Given the description of an element on the screen output the (x, y) to click on. 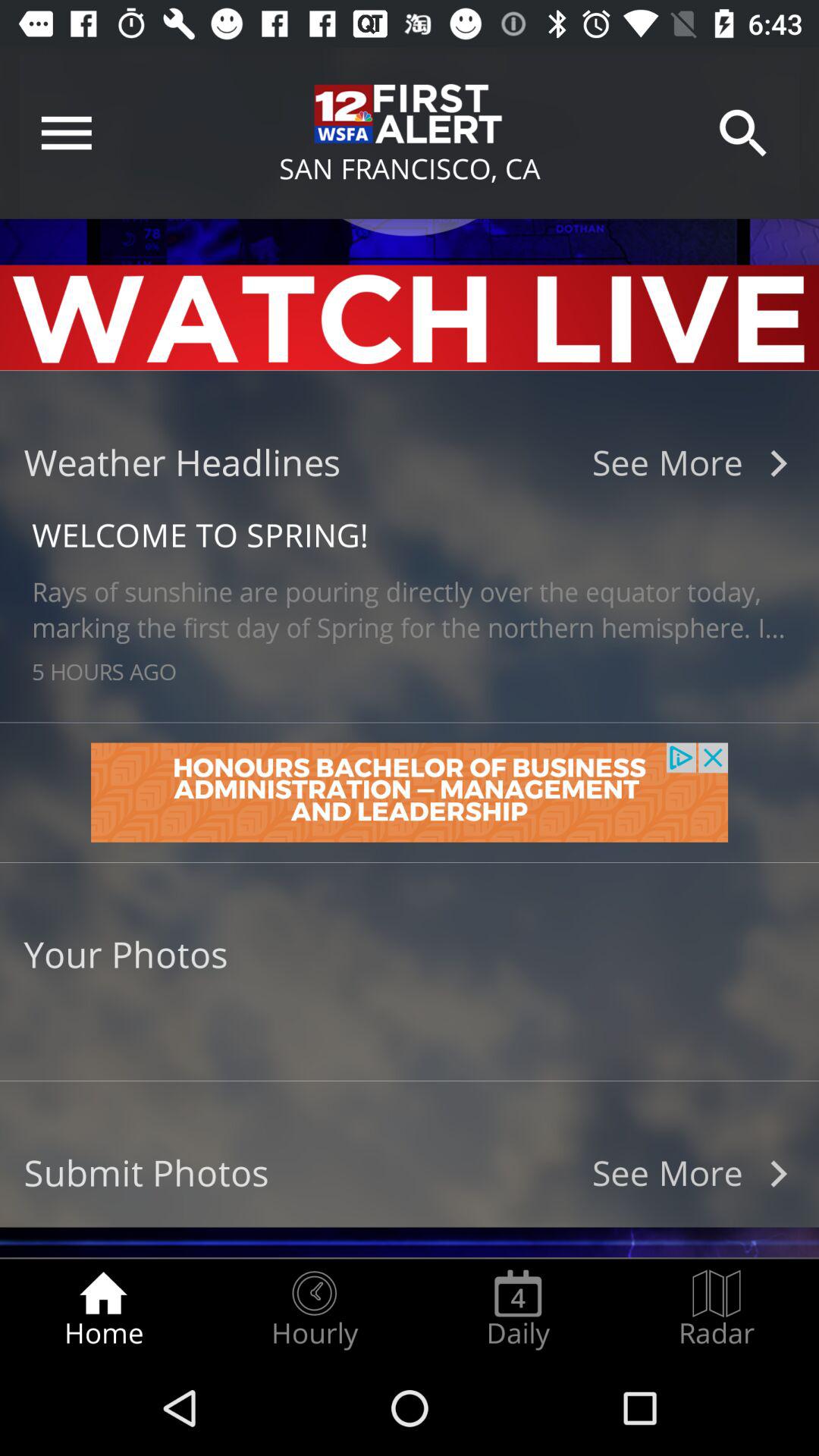
jump to the daily radio button (518, 1309)
